Given the description of an element on the screen output the (x, y) to click on. 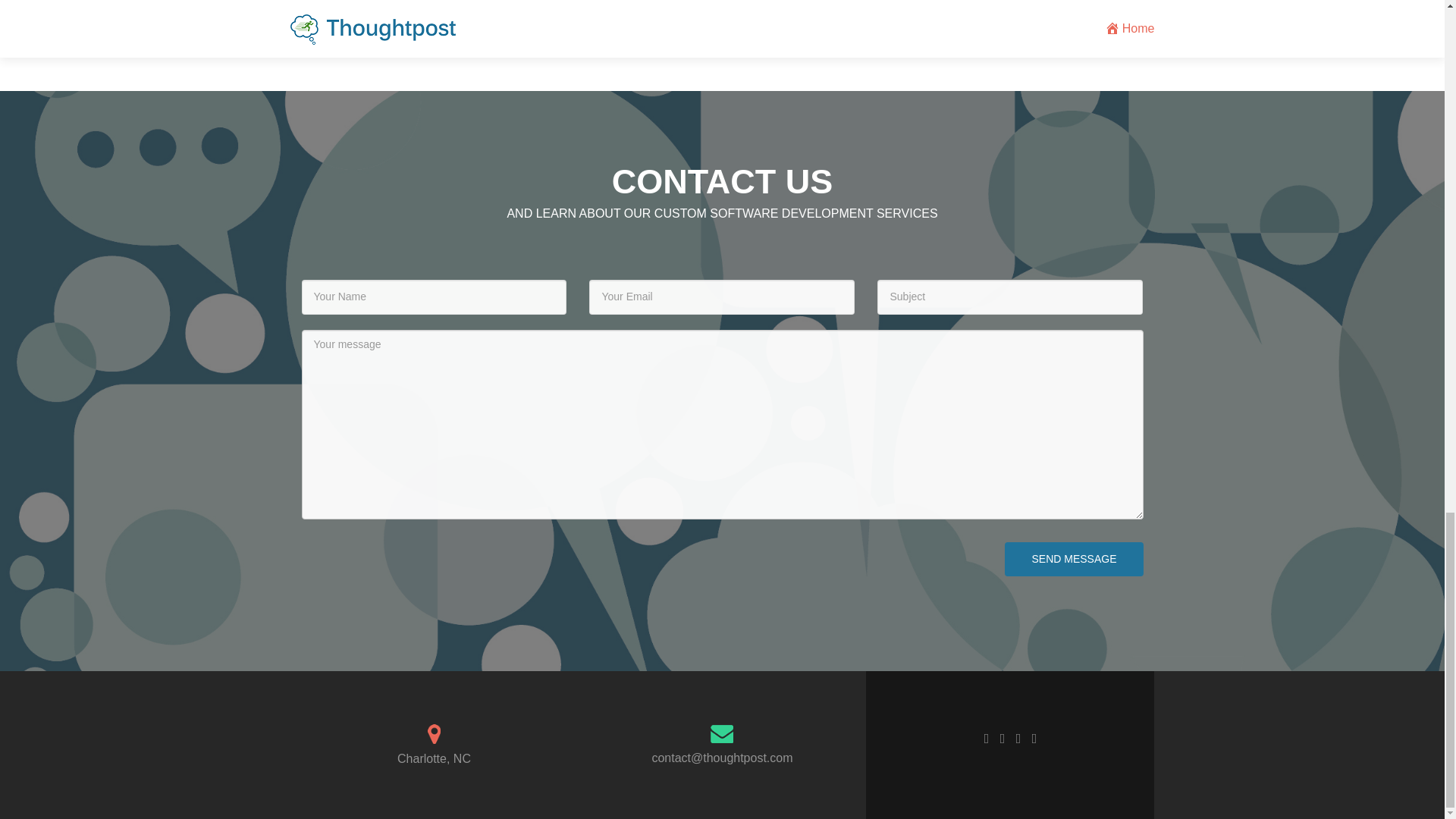
SEND MESSAGE (1073, 559)
